Given the description of an element on the screen output the (x, y) to click on. 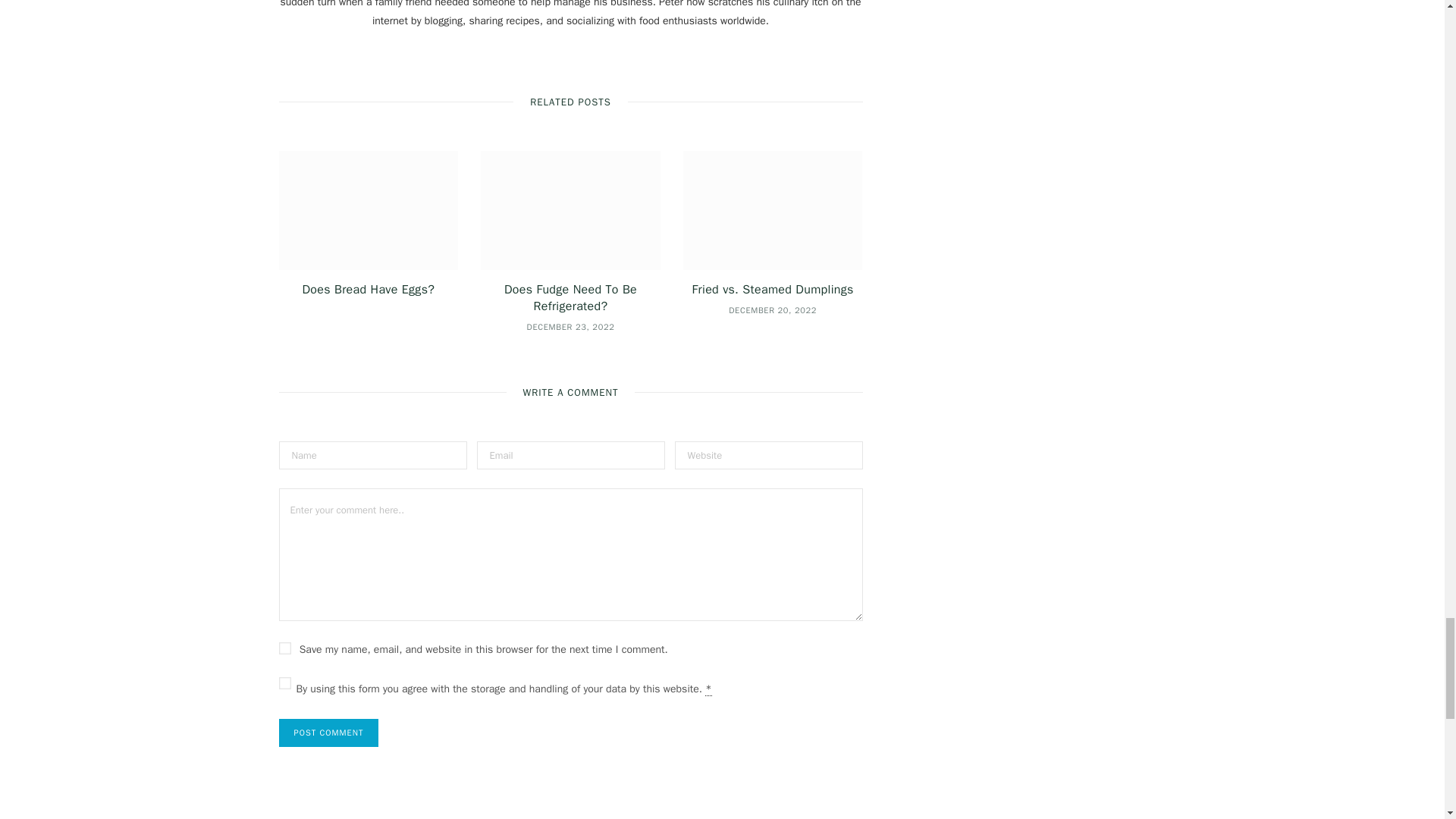
You need to accept this checkbox. (707, 689)
Post Comment (328, 732)
yes (285, 648)
1 (285, 683)
